Given the description of an element on the screen output the (x, y) to click on. 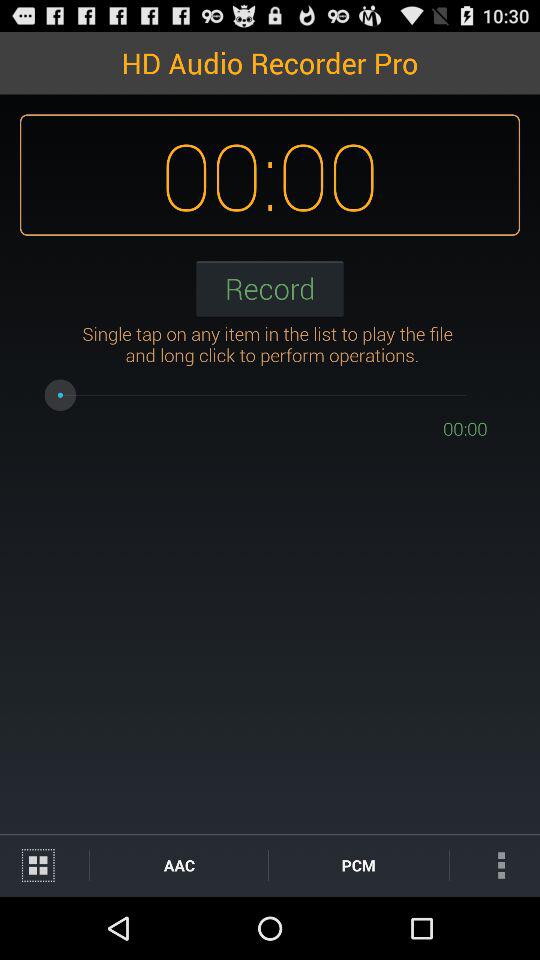
select icon next to the pcm (178, 864)
